Given the description of an element on the screen output the (x, y) to click on. 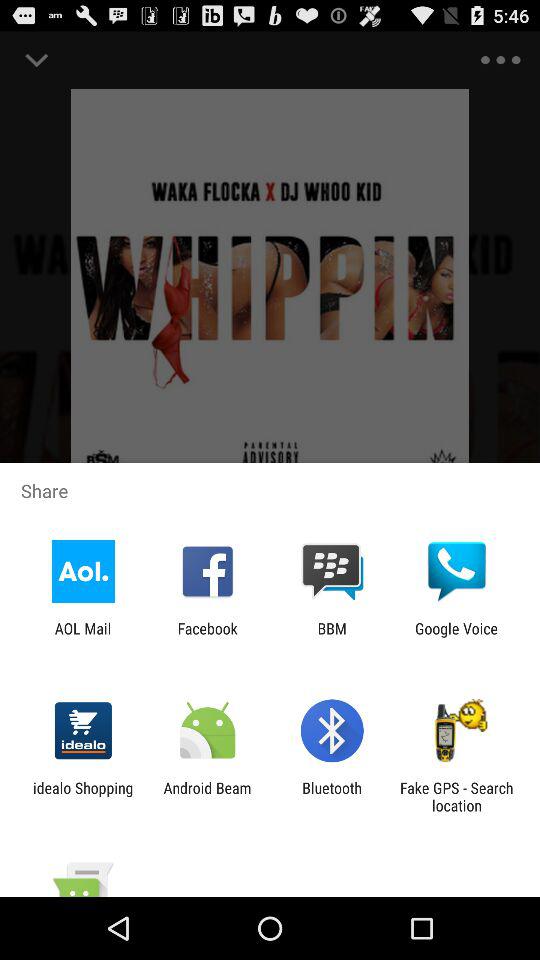
tap the app to the left of the bbm app (207, 637)
